Given the description of an element on the screen output the (x, y) to click on. 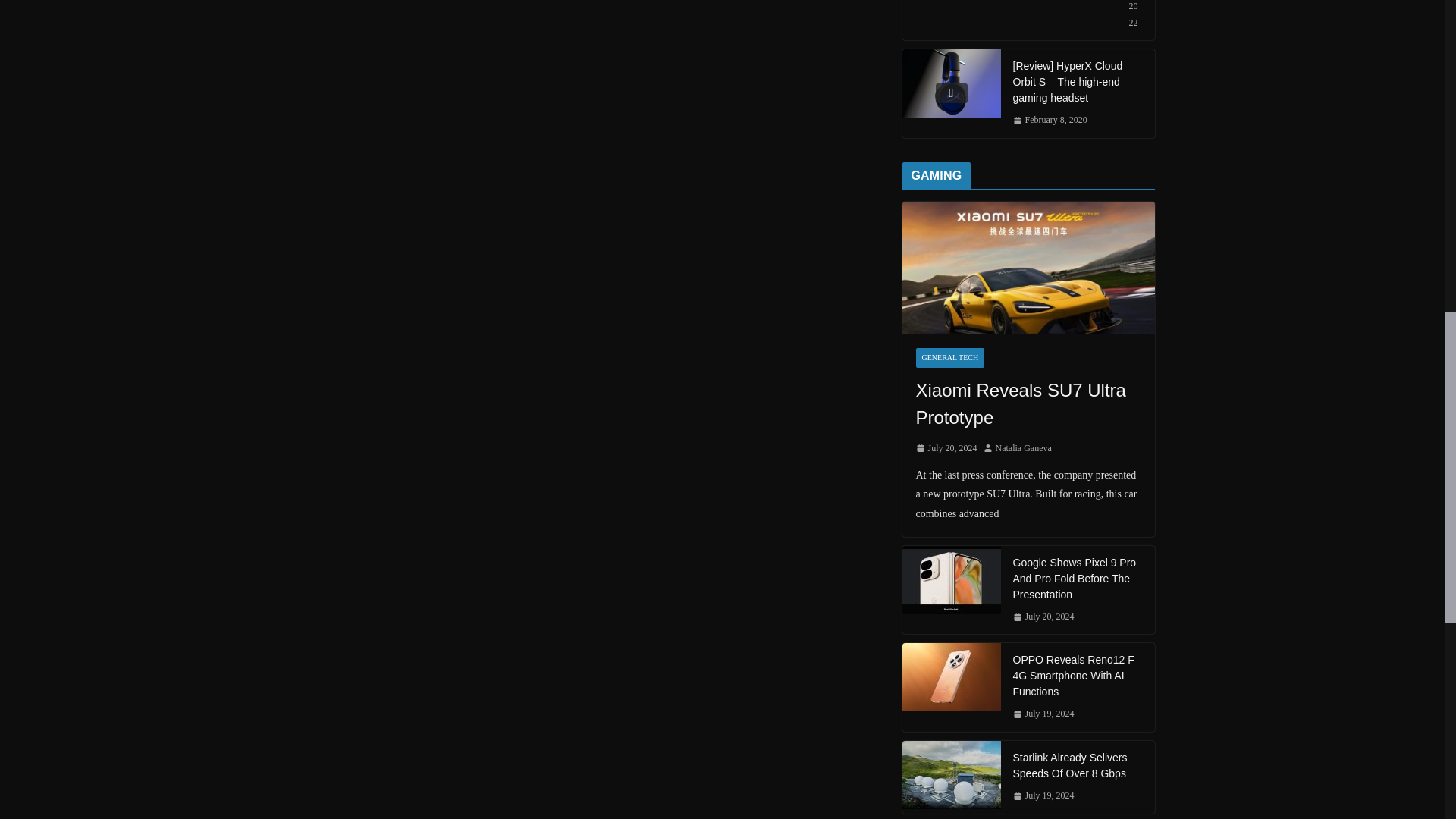
11:32 am (1050, 120)
Xiaomi Reveals SU7 Ultra Prototype (1028, 267)
